Given the description of an element on the screen output the (x, y) to click on. 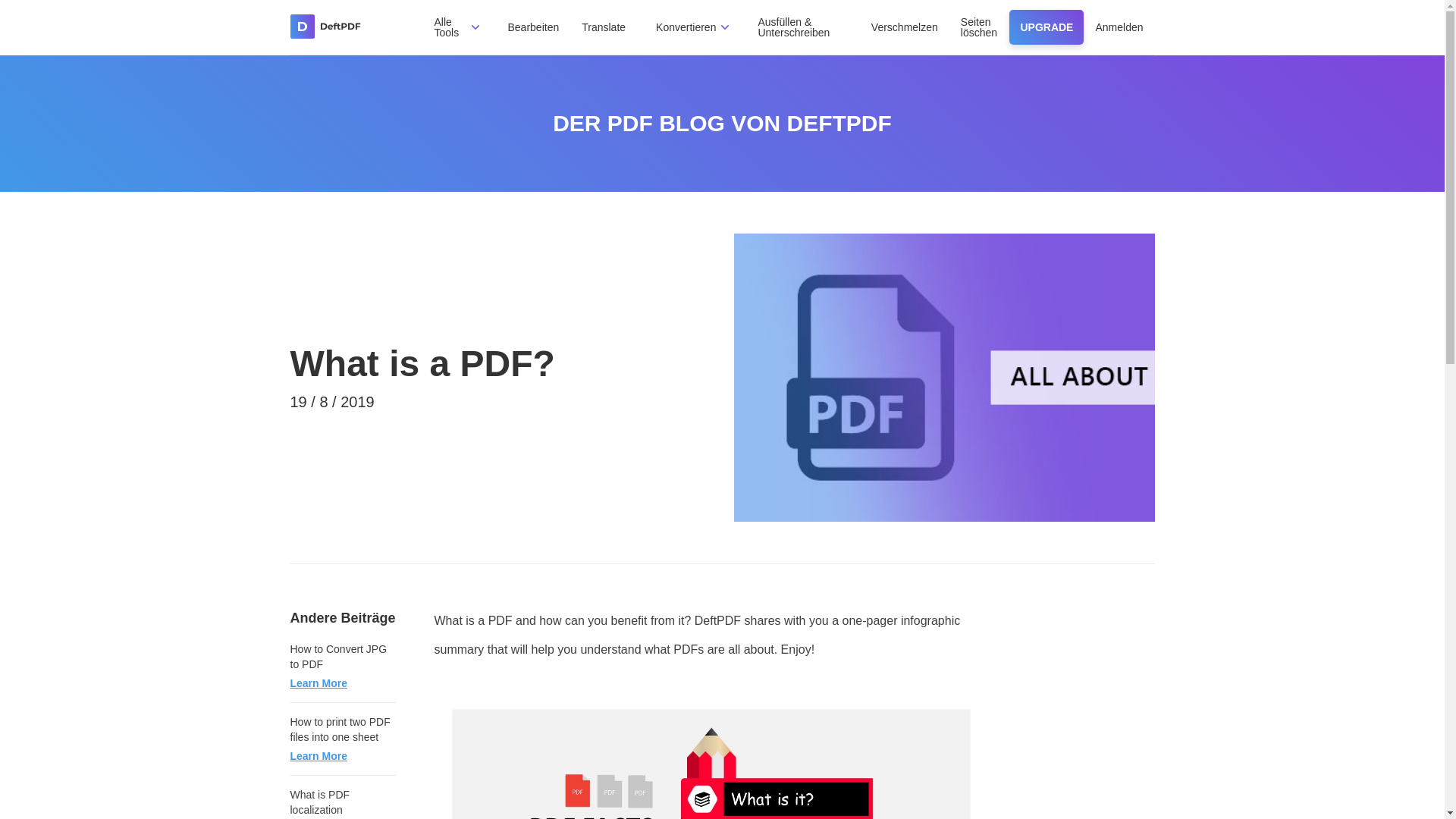
Bearbeiten (533, 27)
UPGRADE (1046, 27)
Alle Tools (445, 26)
Anmelden (1118, 27)
Translate (603, 27)
Konvertieren (686, 27)
Verschmelzen (903, 27)
